Given the description of an element on the screen output the (x, y) to click on. 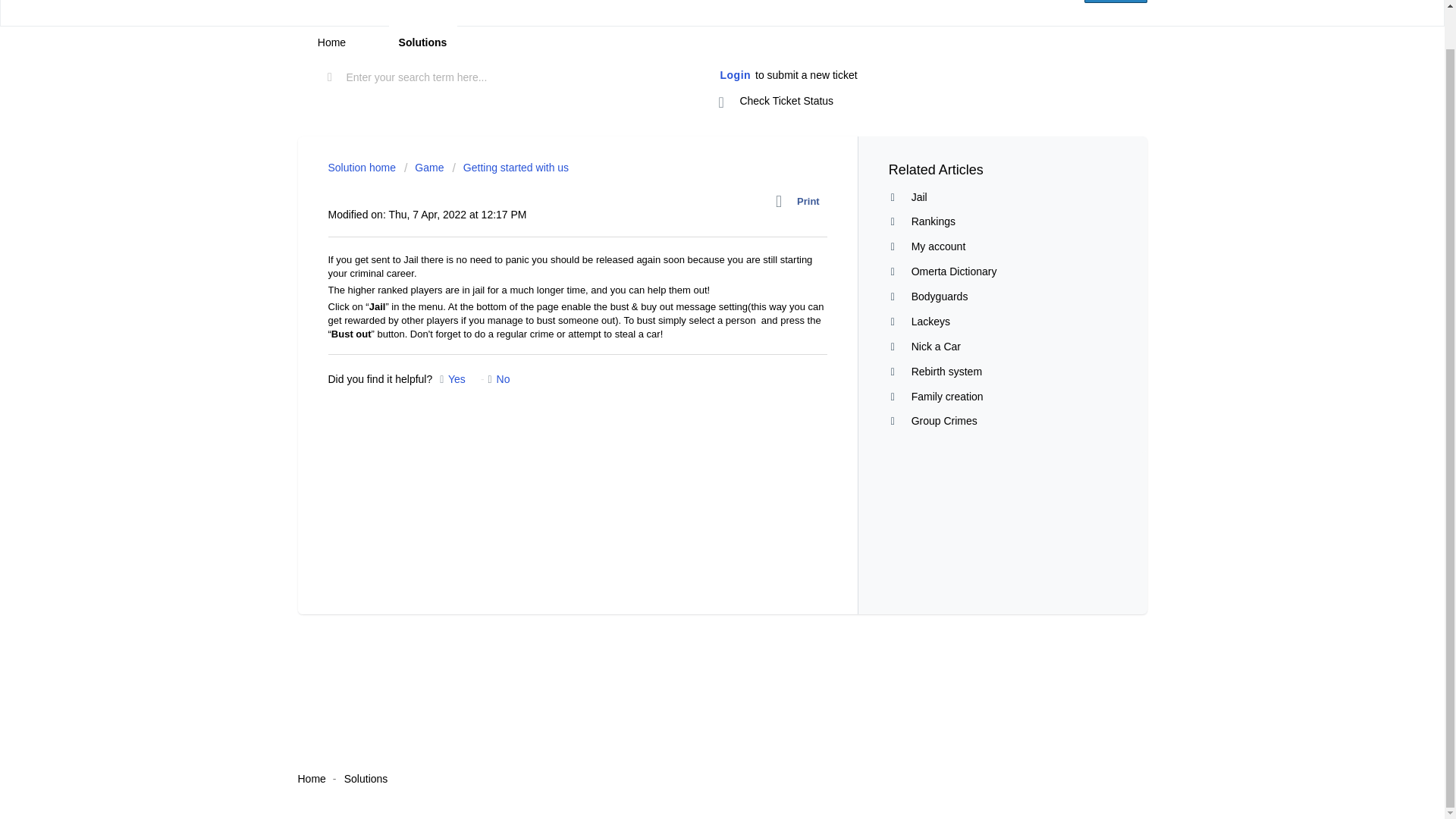
Game (424, 167)
Group Crimes (943, 420)
Lackeys (930, 321)
Nick a Car (935, 346)
Family creation (947, 396)
Omerta Dictionary (954, 271)
Print this Article (801, 201)
Rankings (933, 221)
My account (938, 246)
Check ticket status (776, 101)
